Given the description of an element on the screen output the (x, y) to click on. 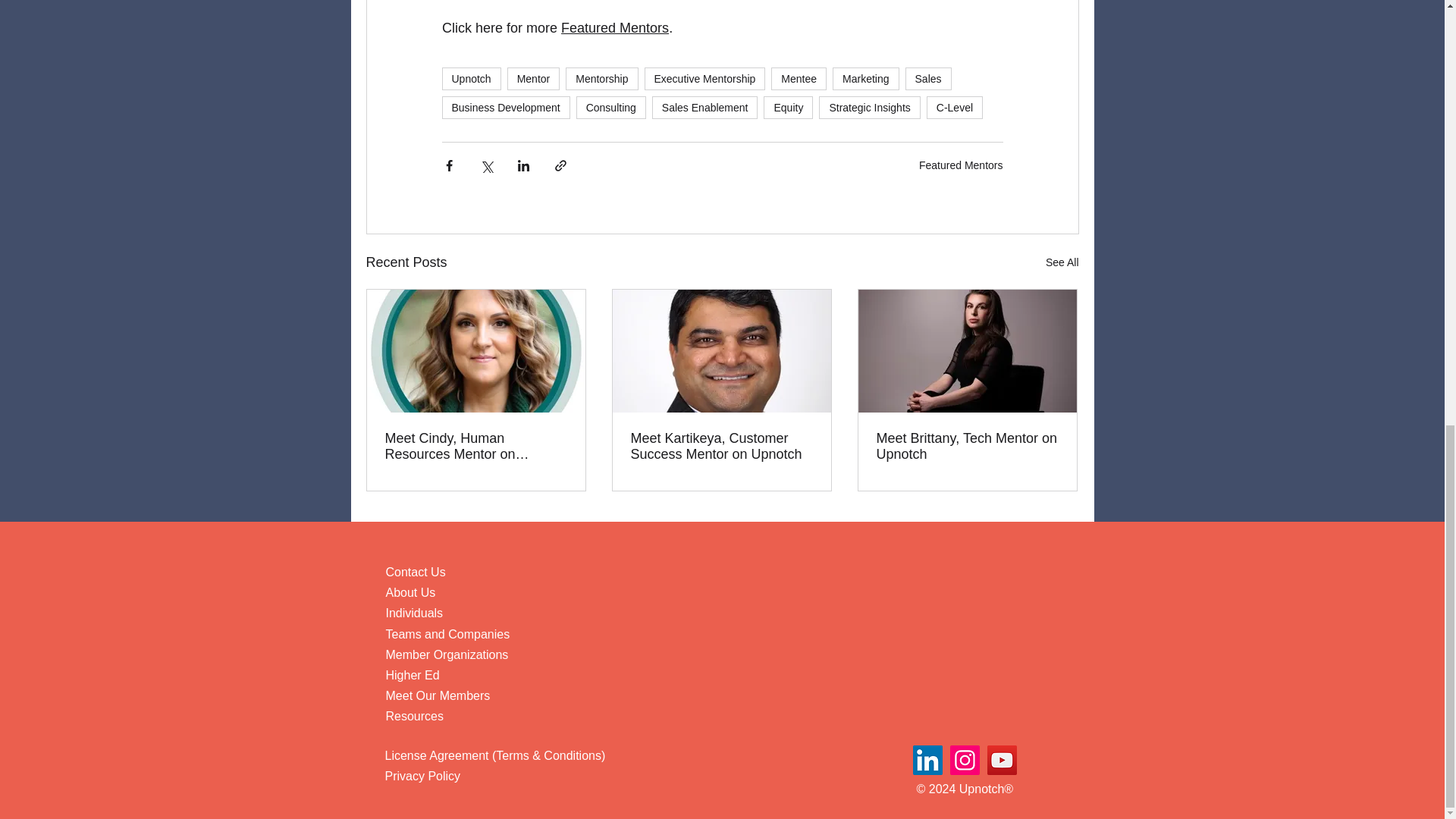
Upnotch (470, 78)
Mentor (533, 78)
Sales Enablement (705, 107)
Strategic Insights (869, 107)
Business Development (505, 107)
Mentorship (601, 78)
Mentee (799, 78)
Consulting (611, 107)
C-Level (954, 107)
Featured Mentors (960, 164)
